Given the description of an element on the screen output the (x, y) to click on. 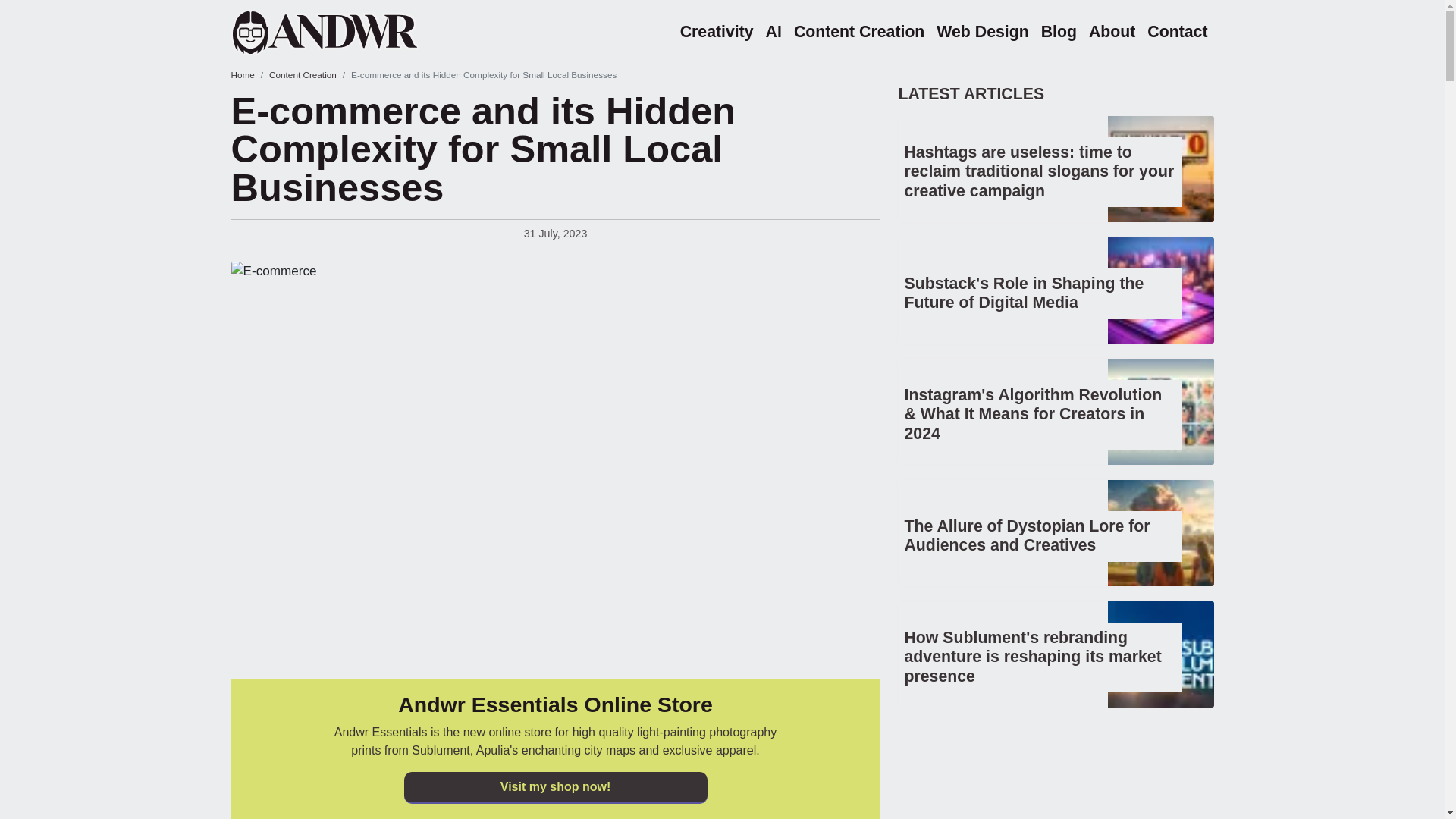
Content Creation (858, 32)
Home (241, 74)
andwr (344, 31)
Substack's Role in Shaping the Future of Digital Media (1024, 293)
Visit my shop now! (554, 787)
About (1112, 32)
Content Creation (302, 74)
Blog (1059, 32)
Creativity (717, 32)
Contact (1176, 32)
